Given the description of an element on the screen output the (x, y) to click on. 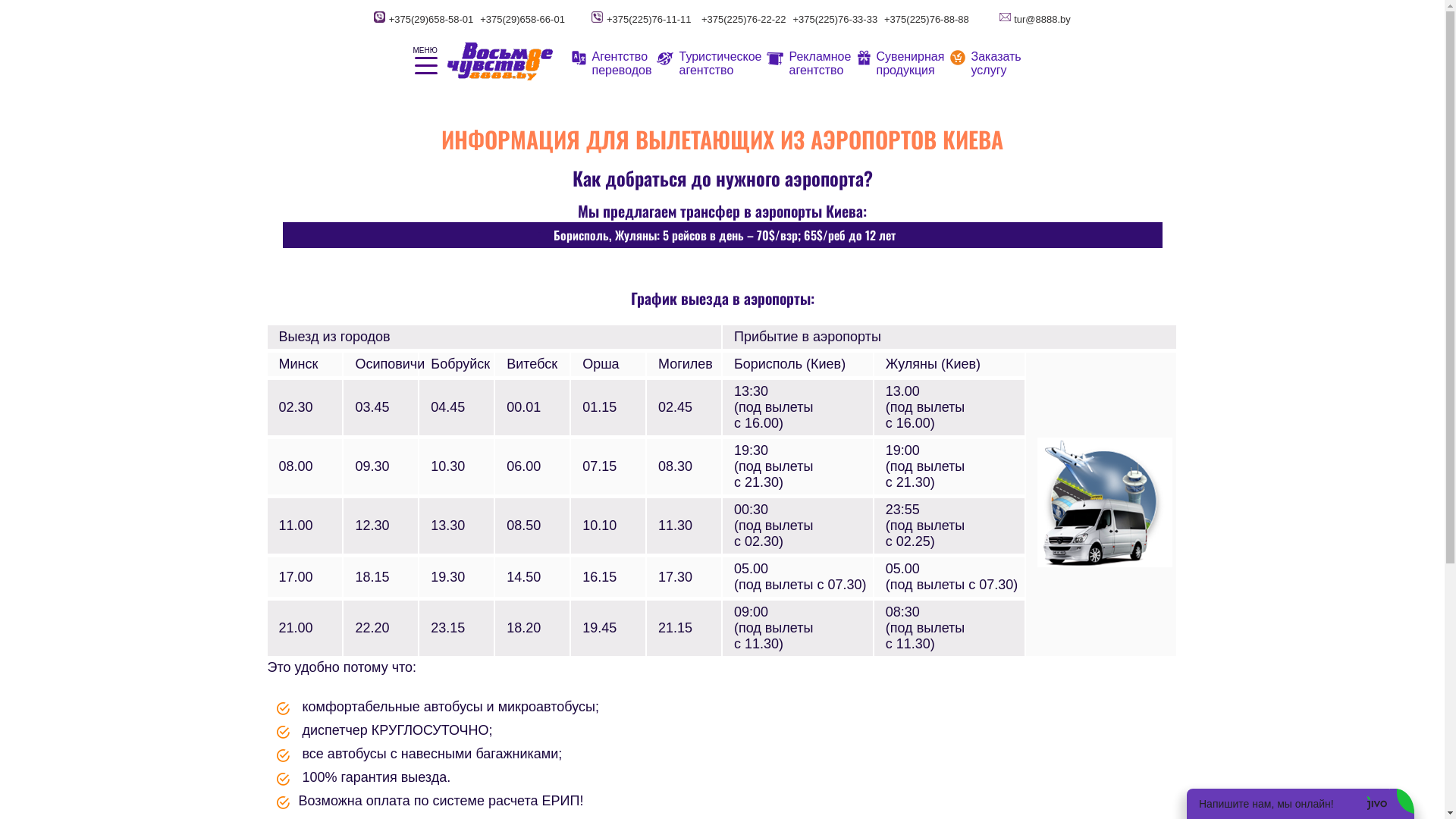
+375(225)76-88-88 Element type: text (926, 19)
+375(225)76-11-11 Element type: text (648, 19)
+375(29)658-66-01 Element type: text (522, 19)
+375(29)658-58-01 Element type: text (431, 19)
+375(225)76-33-33 Element type: text (834, 19)
tur@8888.by Element type: text (1041, 19)
+375(225)76-22-22 Element type: text (743, 19)
